Given the description of an element on the screen output the (x, y) to click on. 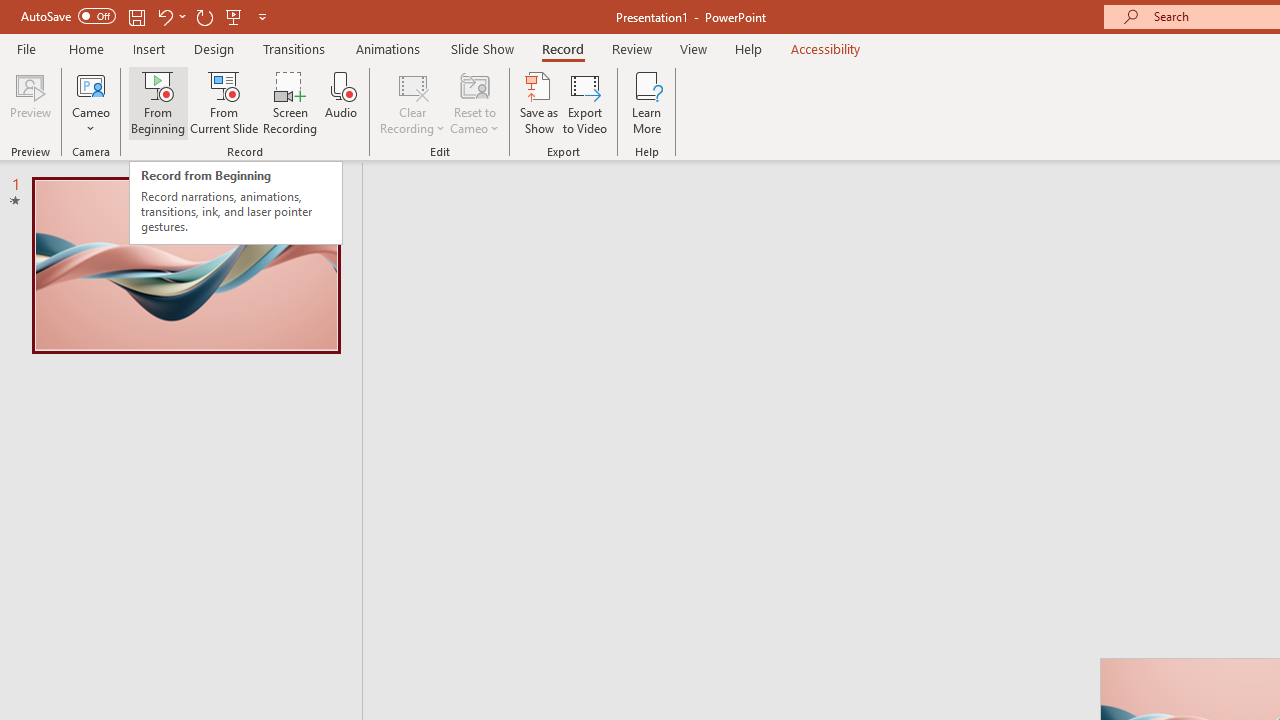
Reset to Cameo (474, 102)
Export to Video (585, 102)
Screen Recording (290, 102)
